Given the description of an element on the screen output the (x, y) to click on. 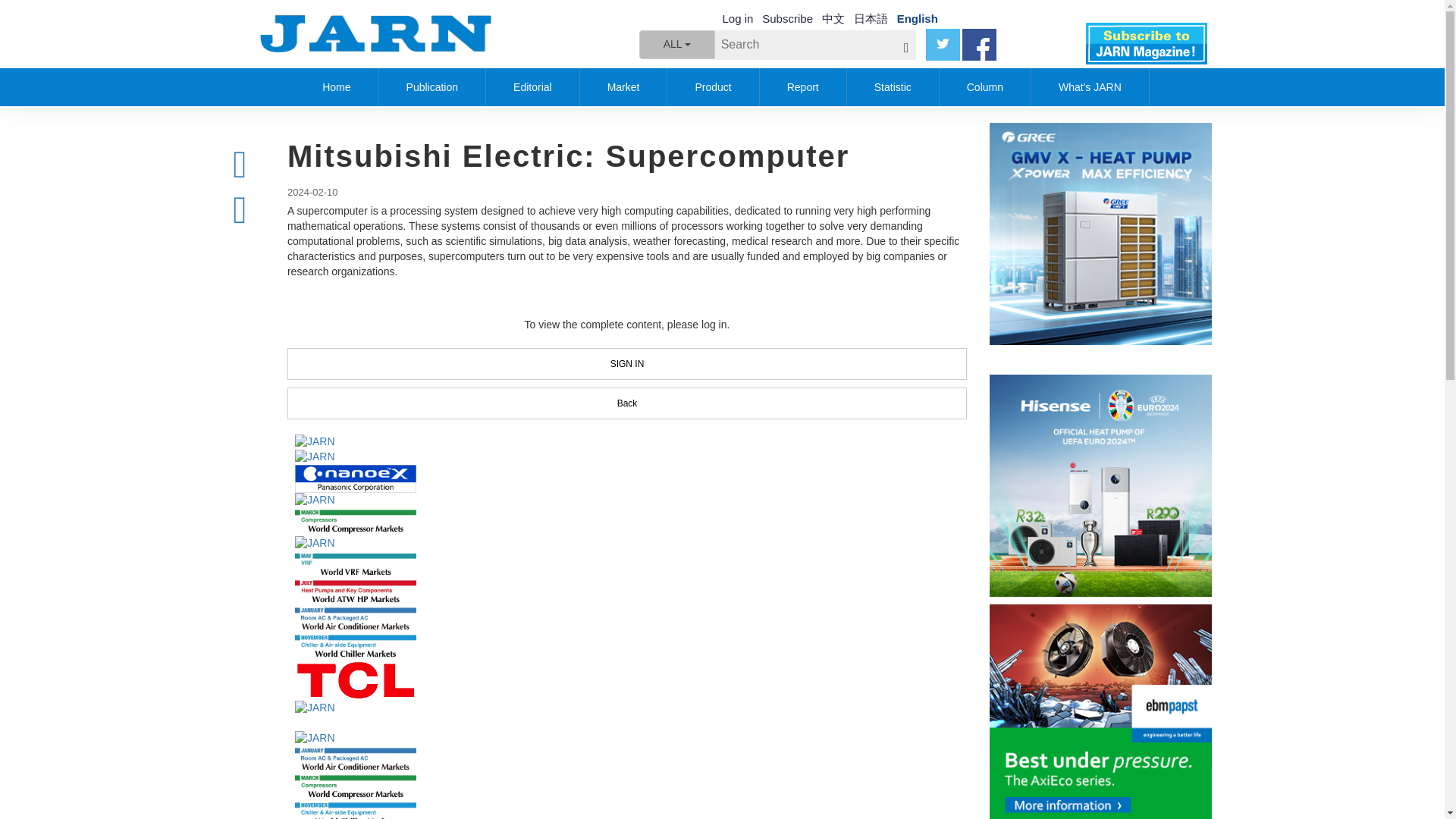
Subscribe (786, 18)
ALL (676, 44)
English (916, 18)
Log in (737, 18)
